Given the description of an element on the screen output the (x, y) to click on. 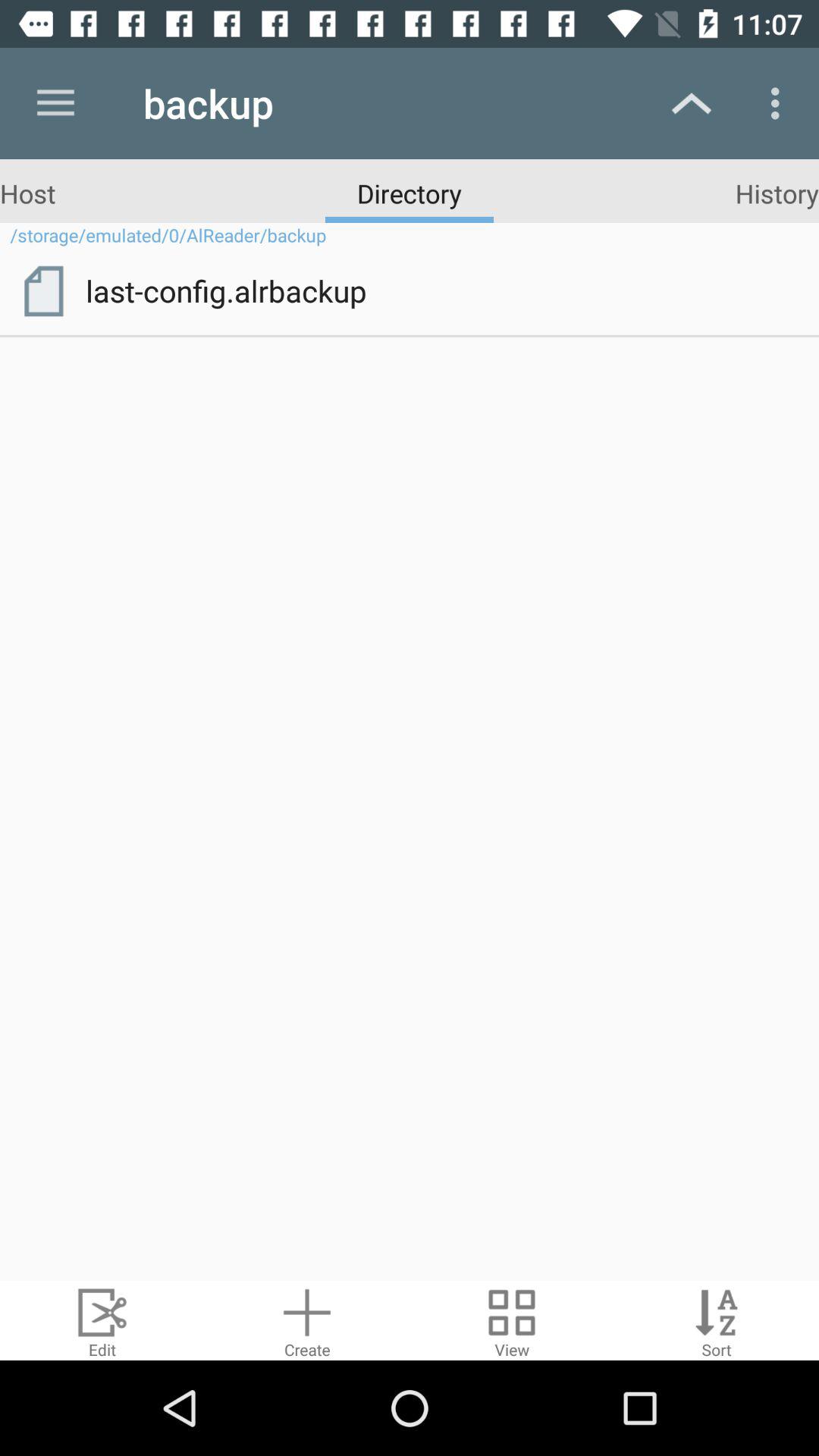
turn on the app next to directory app (27, 193)
